Given the description of an element on the screen output the (x, y) to click on. 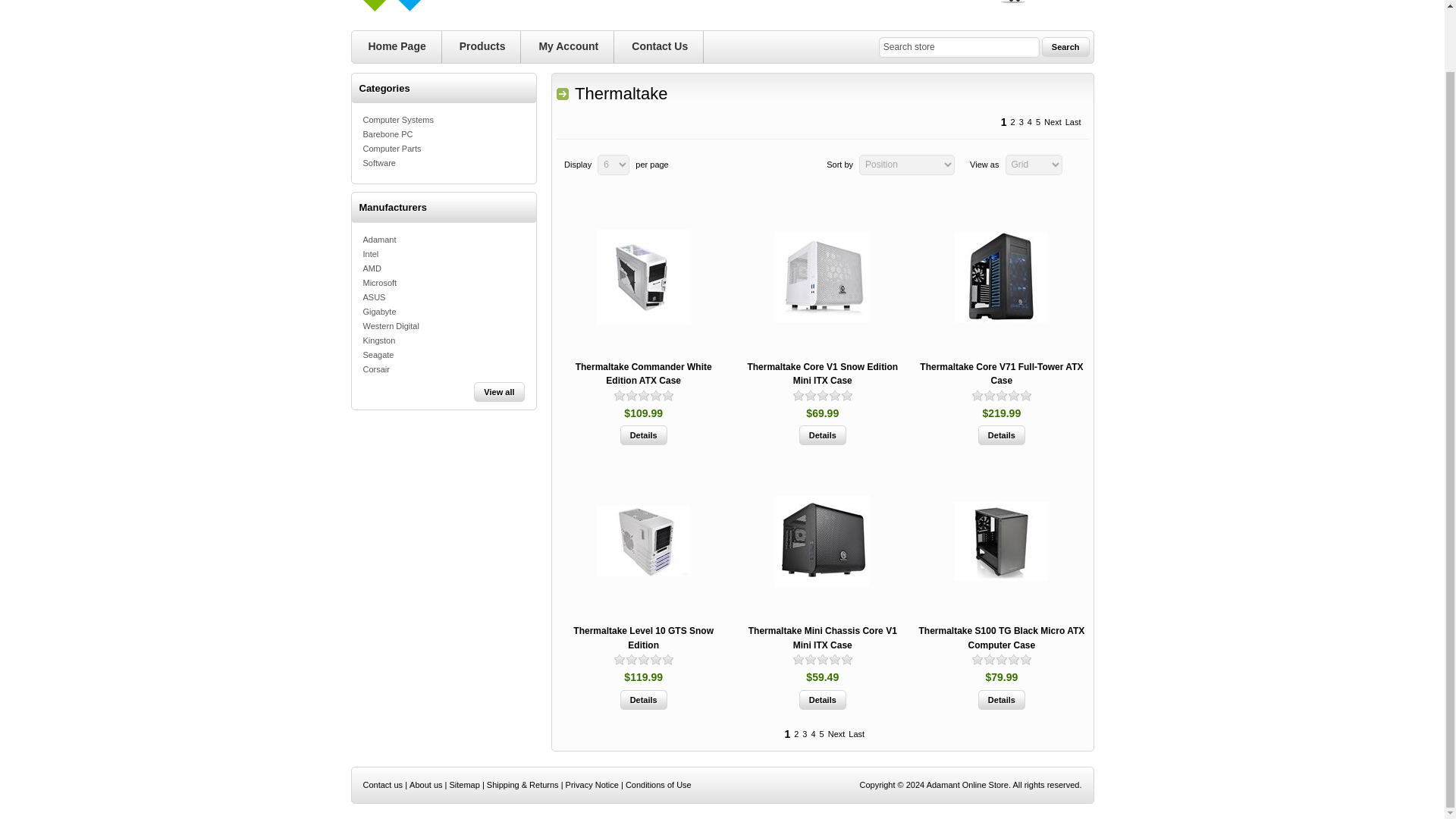
Products (482, 46)
Search (643, 435)
My Account (1065, 46)
Adamant Online Store (822, 435)
Home Page (567, 46)
Search store (478, 7)
Search (397, 46)
Search store (822, 700)
Contact Us (959, 46)
